Given the description of an element on the screen output the (x, y) to click on. 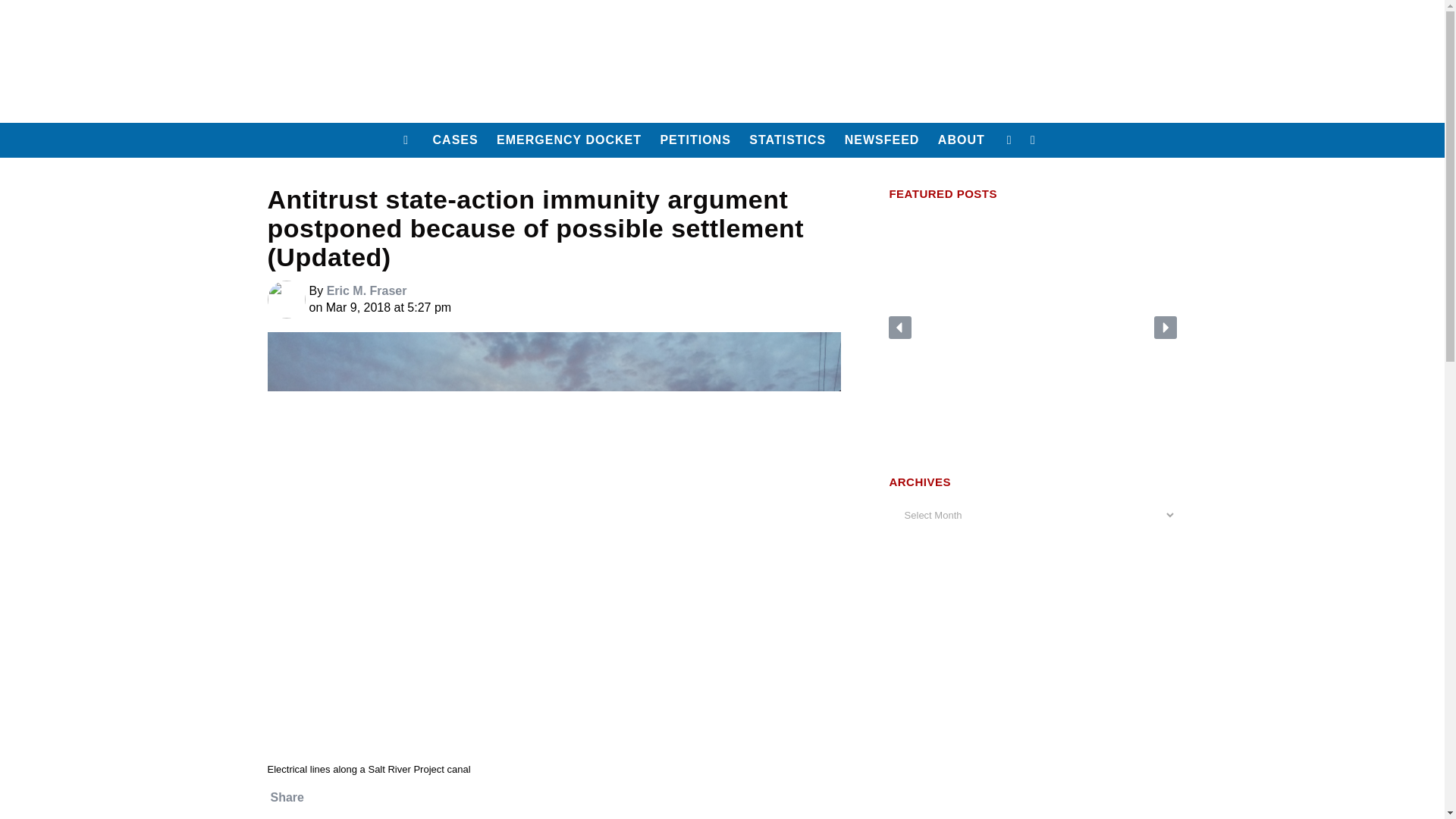
PETITIONS (695, 140)
STATISTICS (786, 140)
EMERGENCY DOCKET (569, 140)
NEWSFEED (882, 140)
ABOUT (961, 140)
CASES (455, 140)
